Given the description of an element on the screen output the (x, y) to click on. 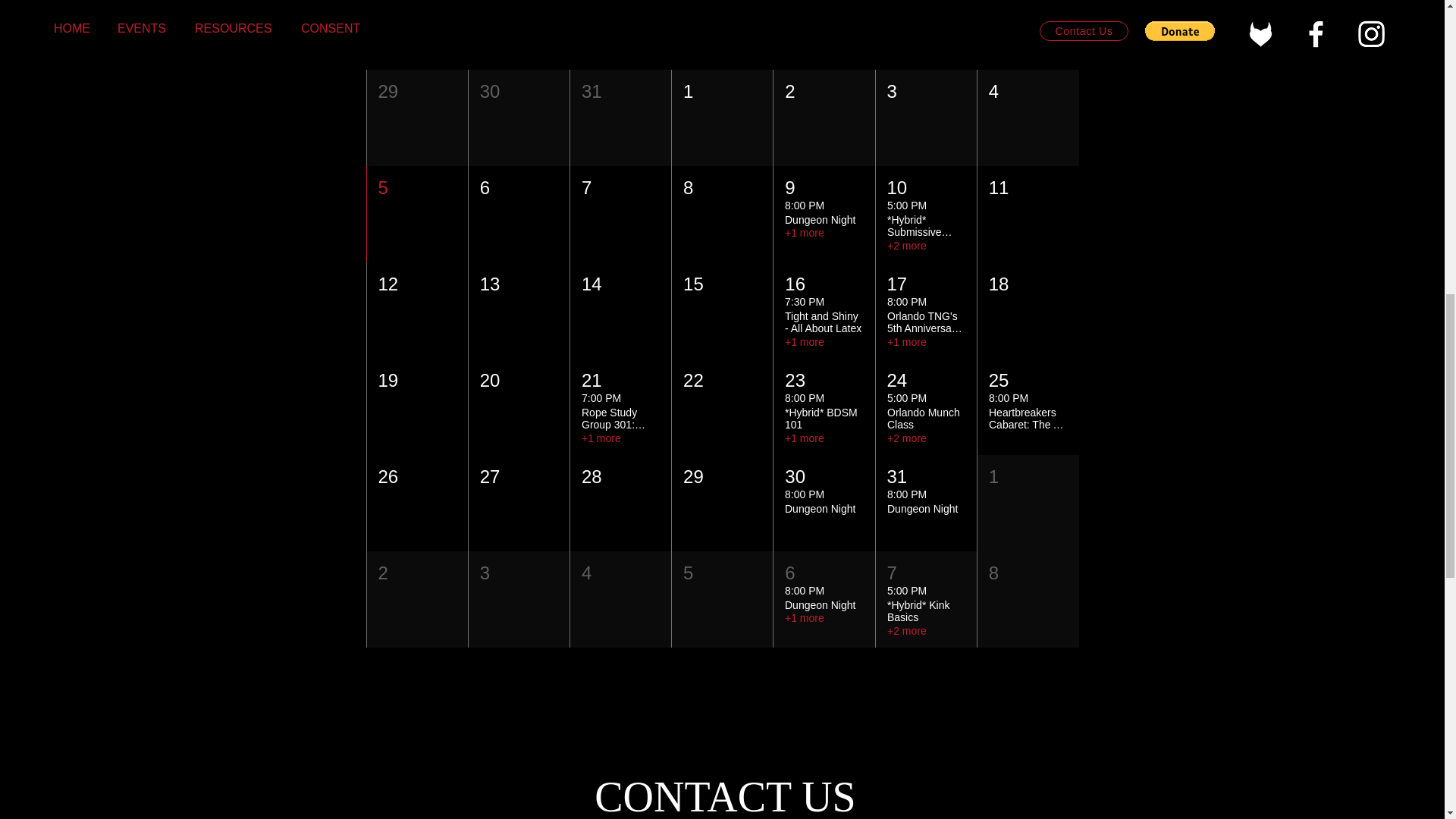
Today (1047, 6)
